Given the description of an element on the screen output the (x, y) to click on. 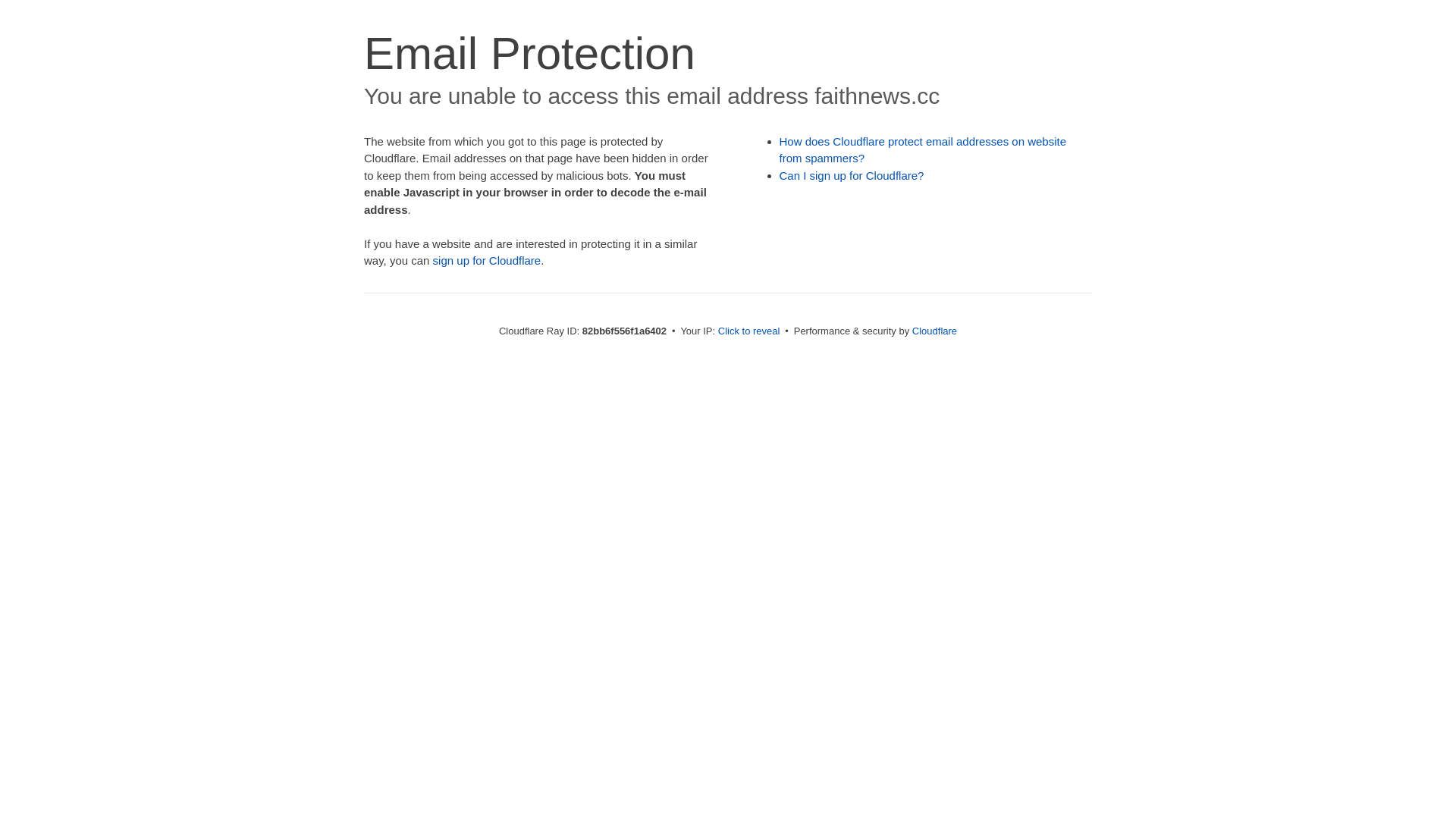
Click to reveal Element type: text (749, 330)
Cloudflare Element type: text (934, 330)
sign up for Cloudflare Element type: text (487, 260)
Can I sign up for Cloudflare? Element type: text (851, 175)
